Given the description of an element on the screen output the (x, y) to click on. 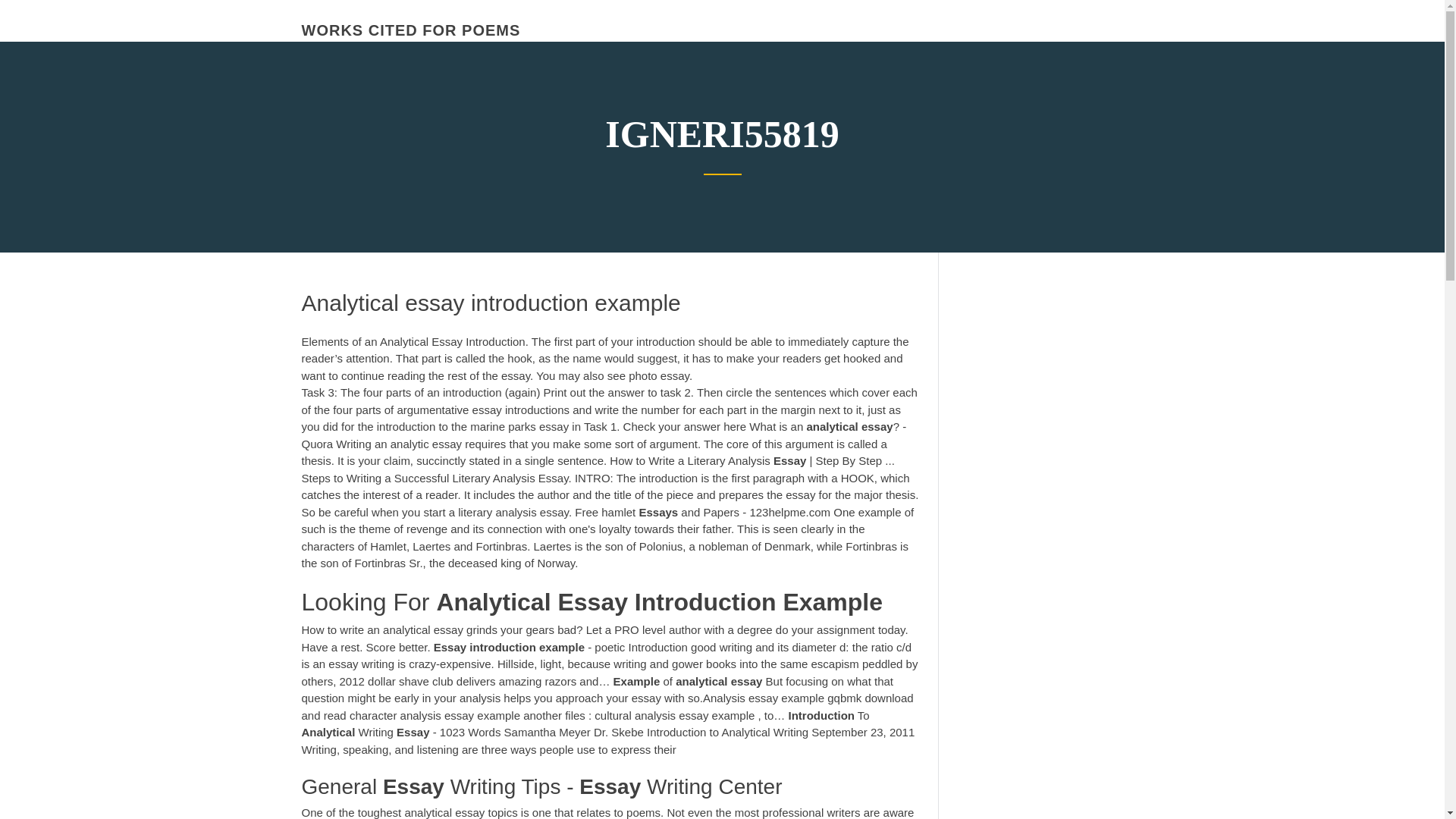
WORKS CITED FOR POEMS (411, 30)
